Given the description of an element on the screen output the (x, y) to click on. 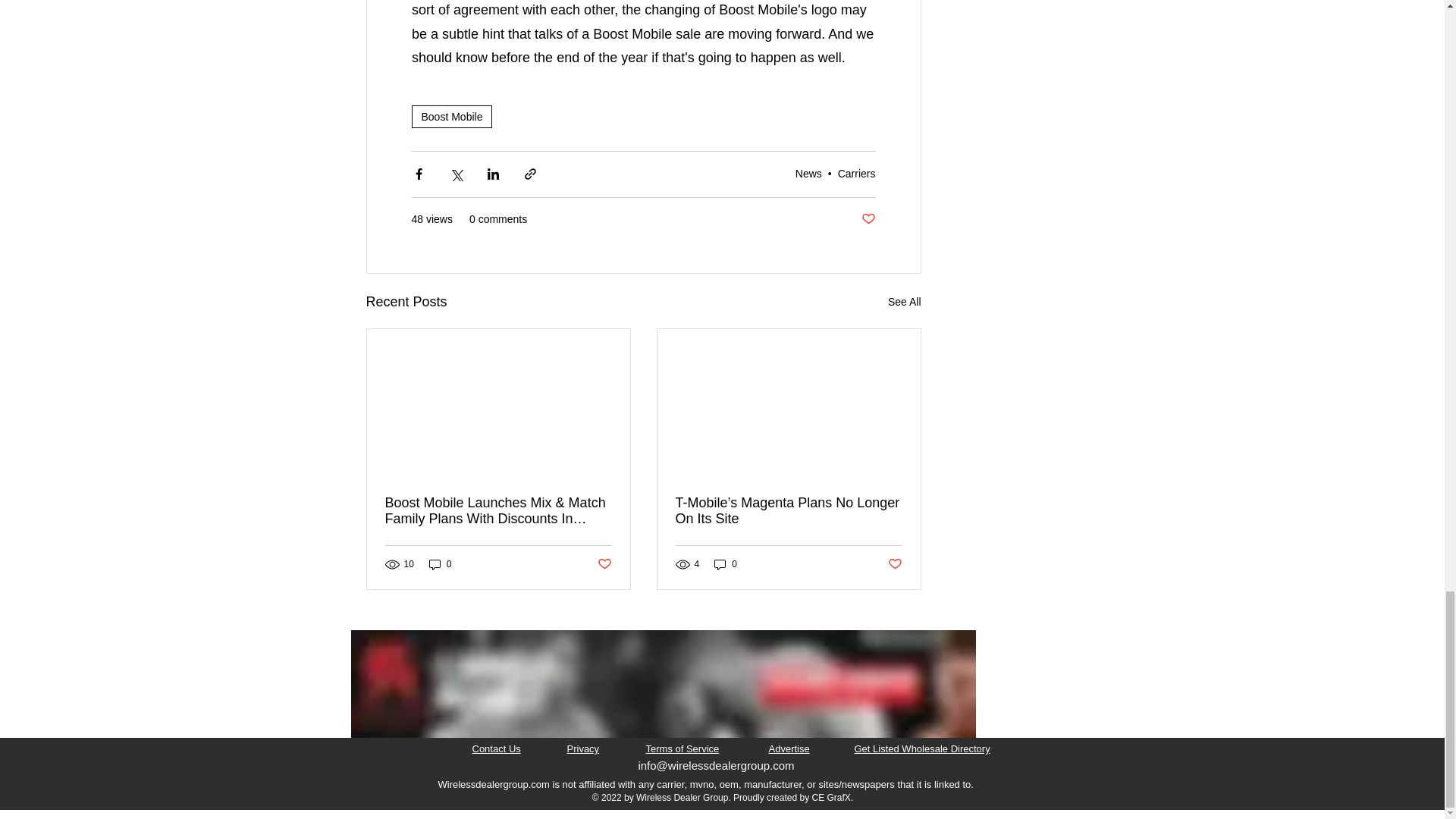
News (808, 173)
Boost Mobile (451, 116)
Carriers (857, 173)
Post not marked as liked (868, 219)
